Given the description of an element on the screen output the (x, y) to click on. 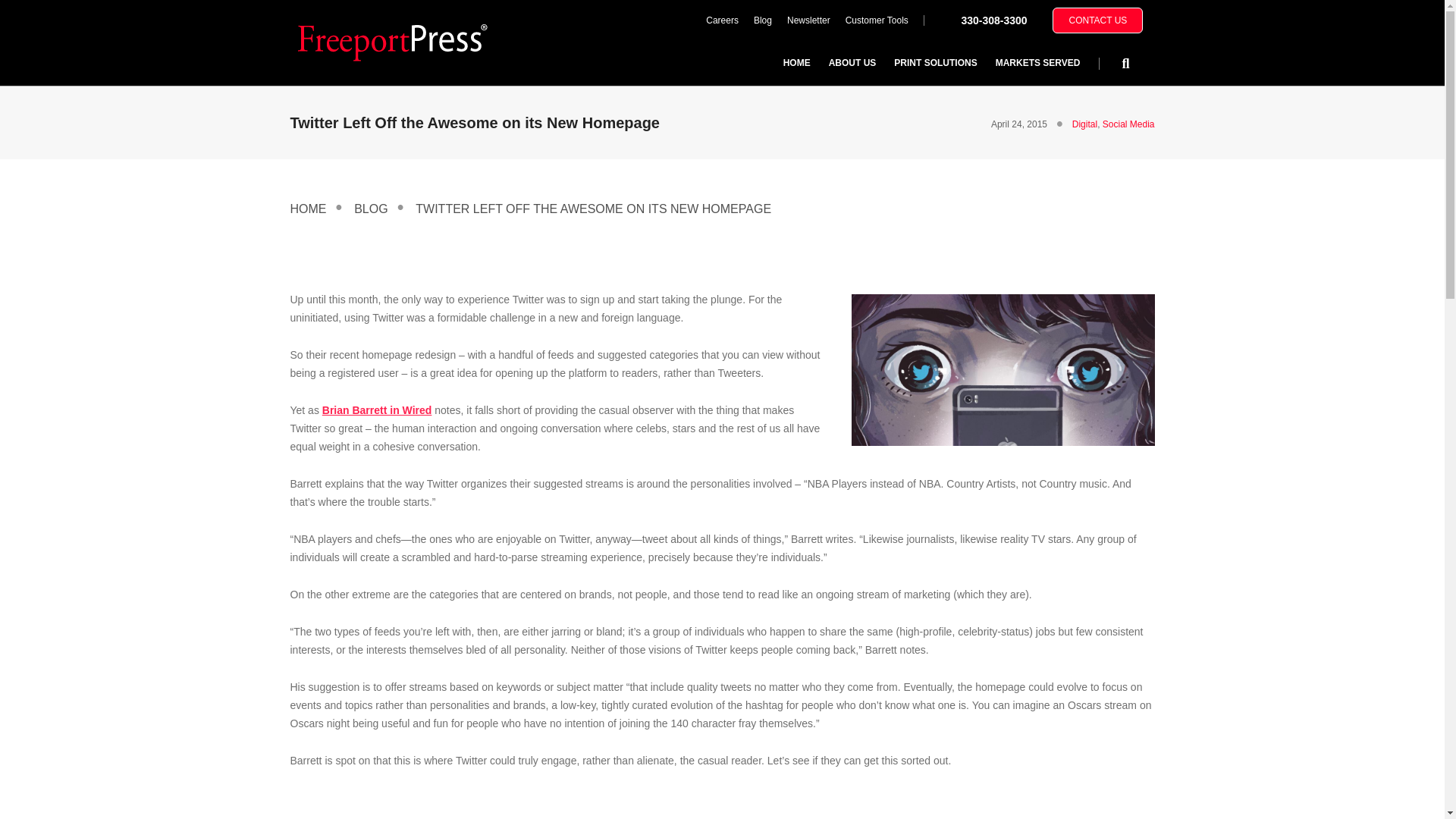
HOME (796, 62)
ABOUT US (852, 62)
CONTACT US (1097, 20)
330-308-3300 (993, 20)
Blog (761, 20)
Newsletter (808, 20)
MARKETS SERVED (1038, 62)
Careers (721, 20)
Customer Tools (876, 20)
PRINT SOLUTIONS (935, 62)
